Given the description of an element on the screen output the (x, y) to click on. 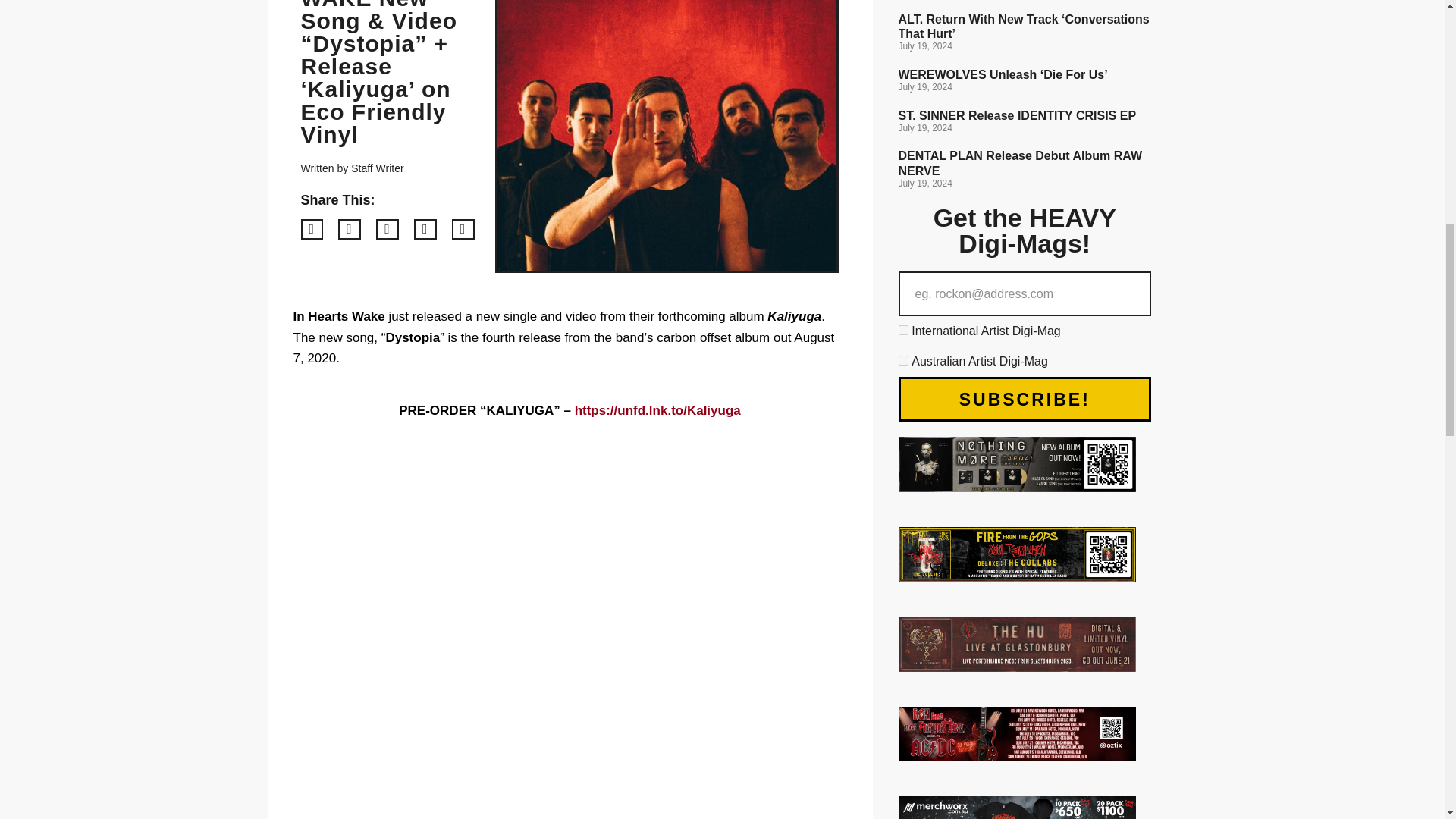
  International Artist Digi-Mag (902, 329)
  Australian Artist Digi-Mag (902, 360)
